Given the description of an element on the screen output the (x, y) to click on. 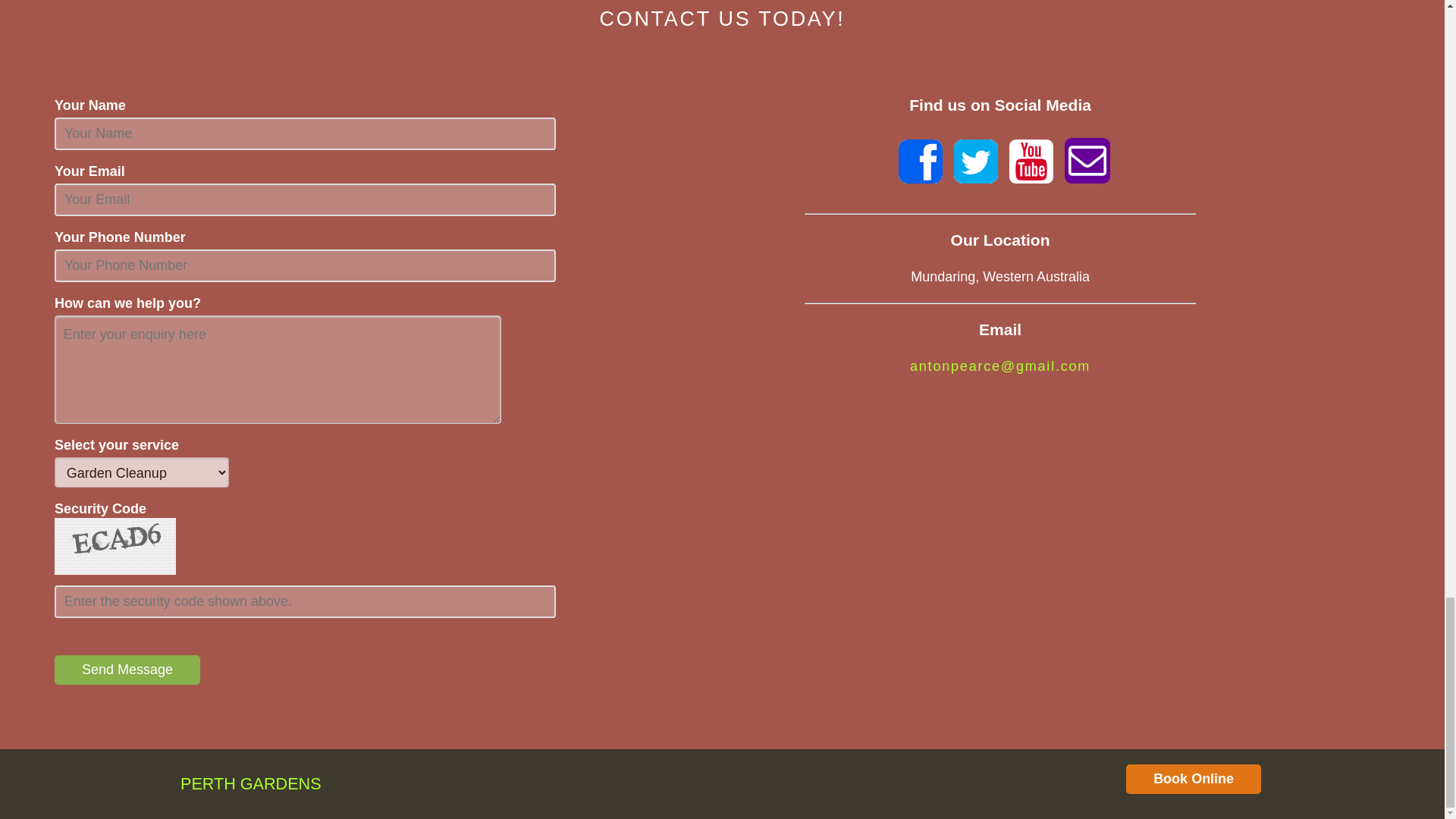
Send Message (127, 669)
